Given the description of an element on the screen output the (x, y) to click on. 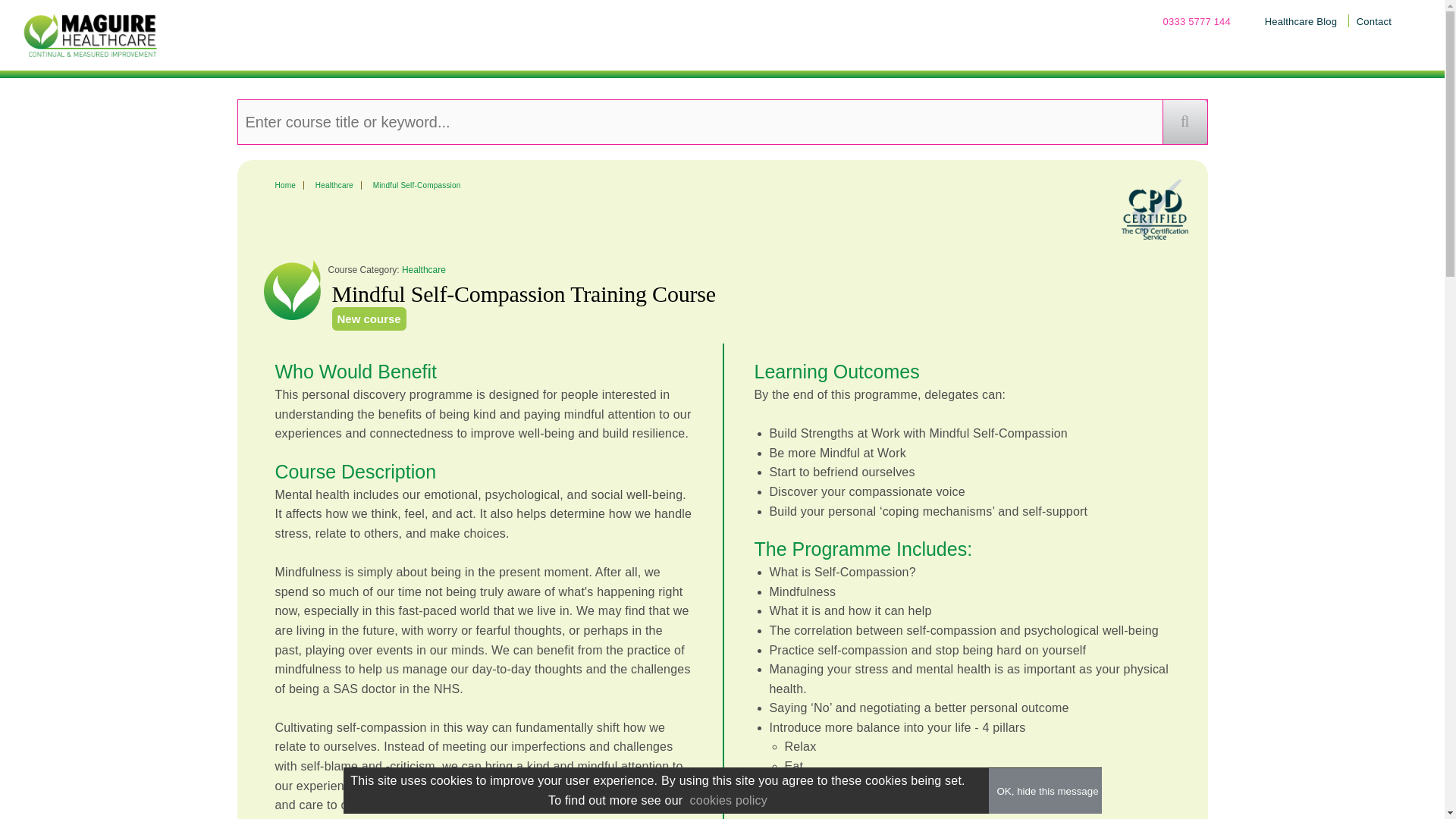
green-blended-logo.png (90, 33)
Home (285, 184)
Healthcare Blog (1301, 21)
0333 5777 144 (1196, 21)
Healthcare (334, 184)
Contact (1373, 21)
OK, hide this message (1046, 790)
